Given the description of an element on the screen output the (x, y) to click on. 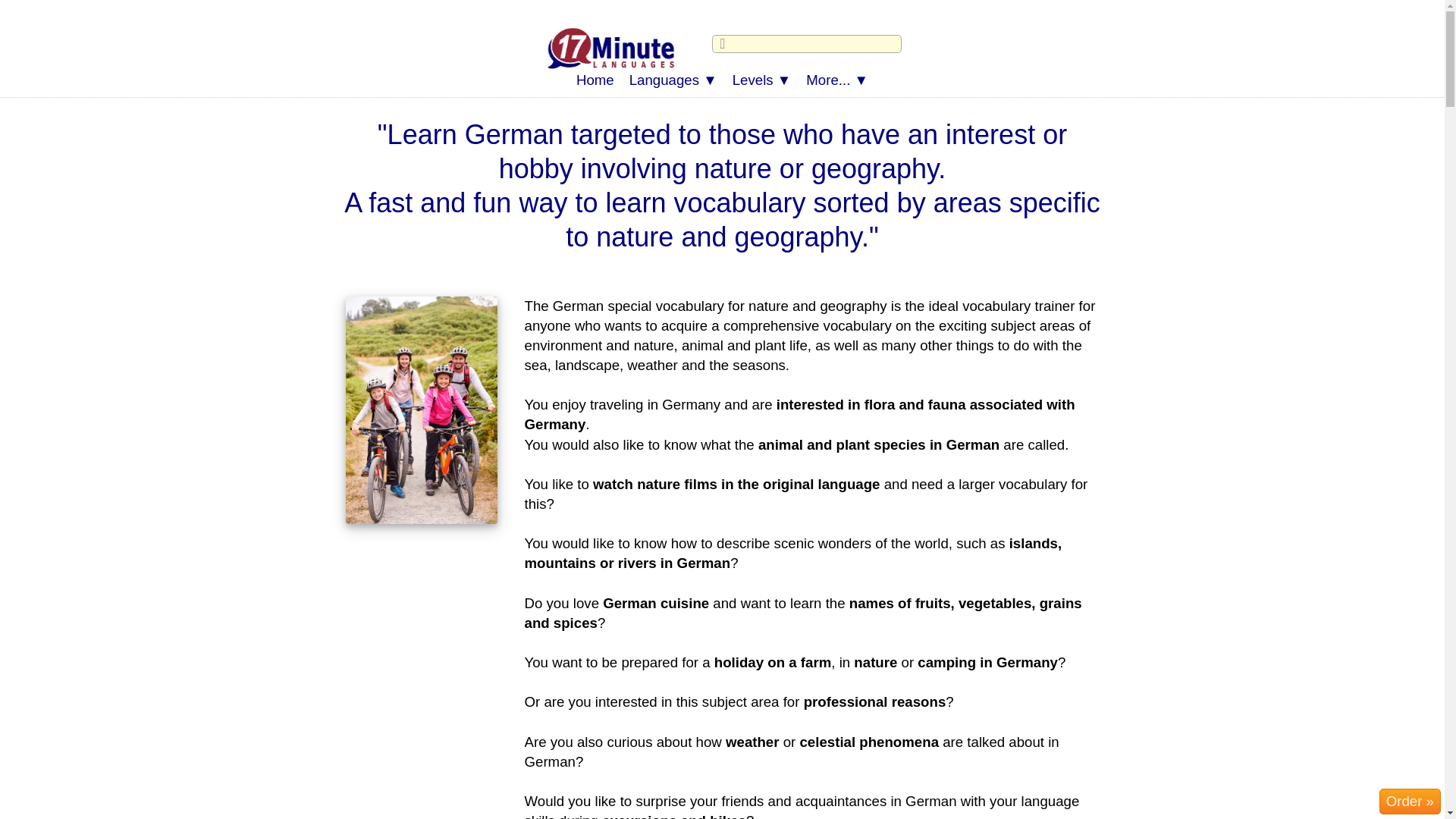
Home (595, 80)
Languages (673, 80)
